Given the description of an element on the screen output the (x, y) to click on. 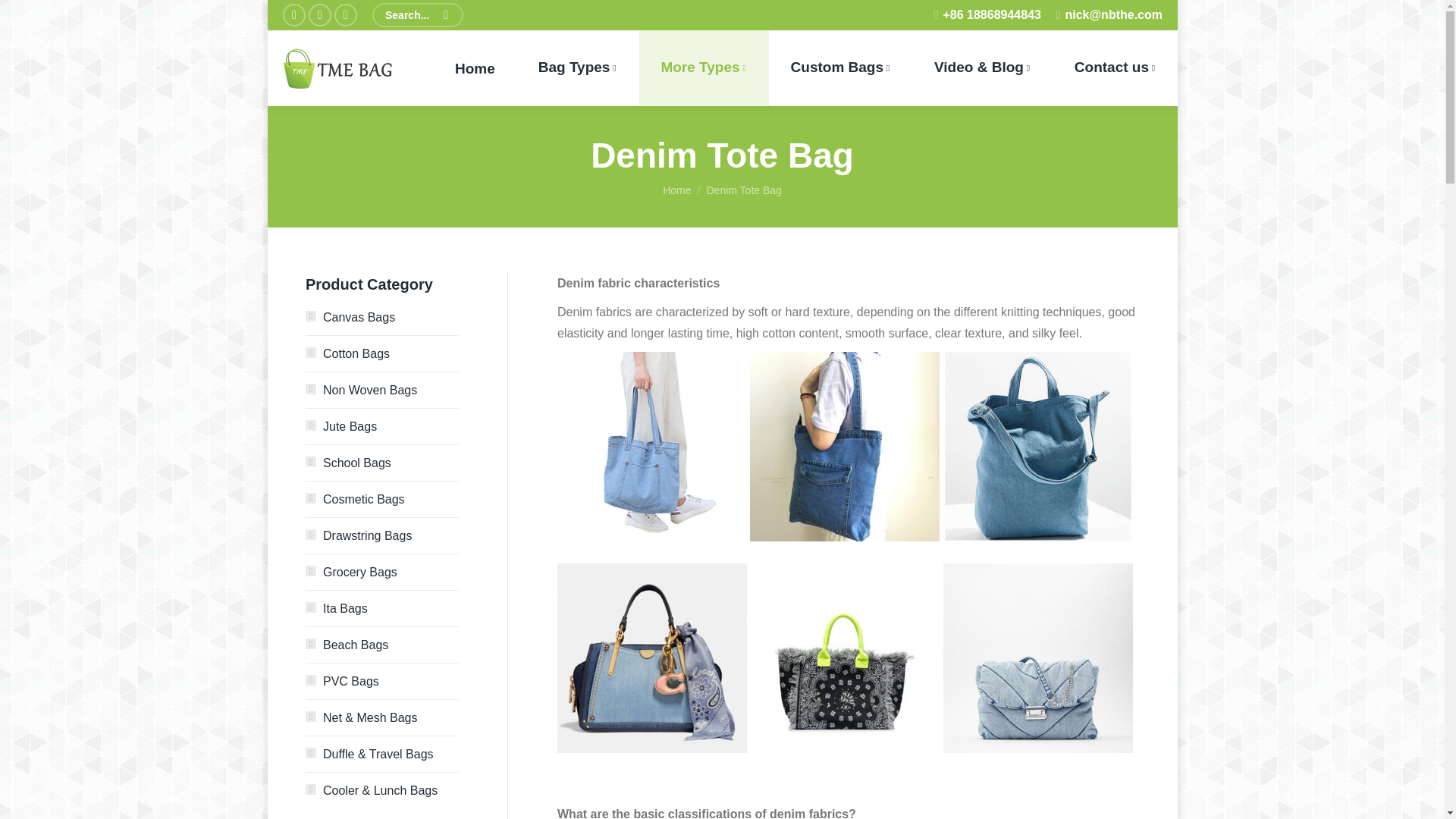
Bag Types (577, 68)
Twitter (318, 15)
Facebook (293, 15)
Dribbble (344, 15)
Dribbble (344, 15)
Custom Bags (839, 68)
Twitter (318, 15)
Go! (30, 15)
More Types (703, 68)
Home (474, 68)
Facebook (293, 15)
